Given the description of an element on the screen output the (x, y) to click on. 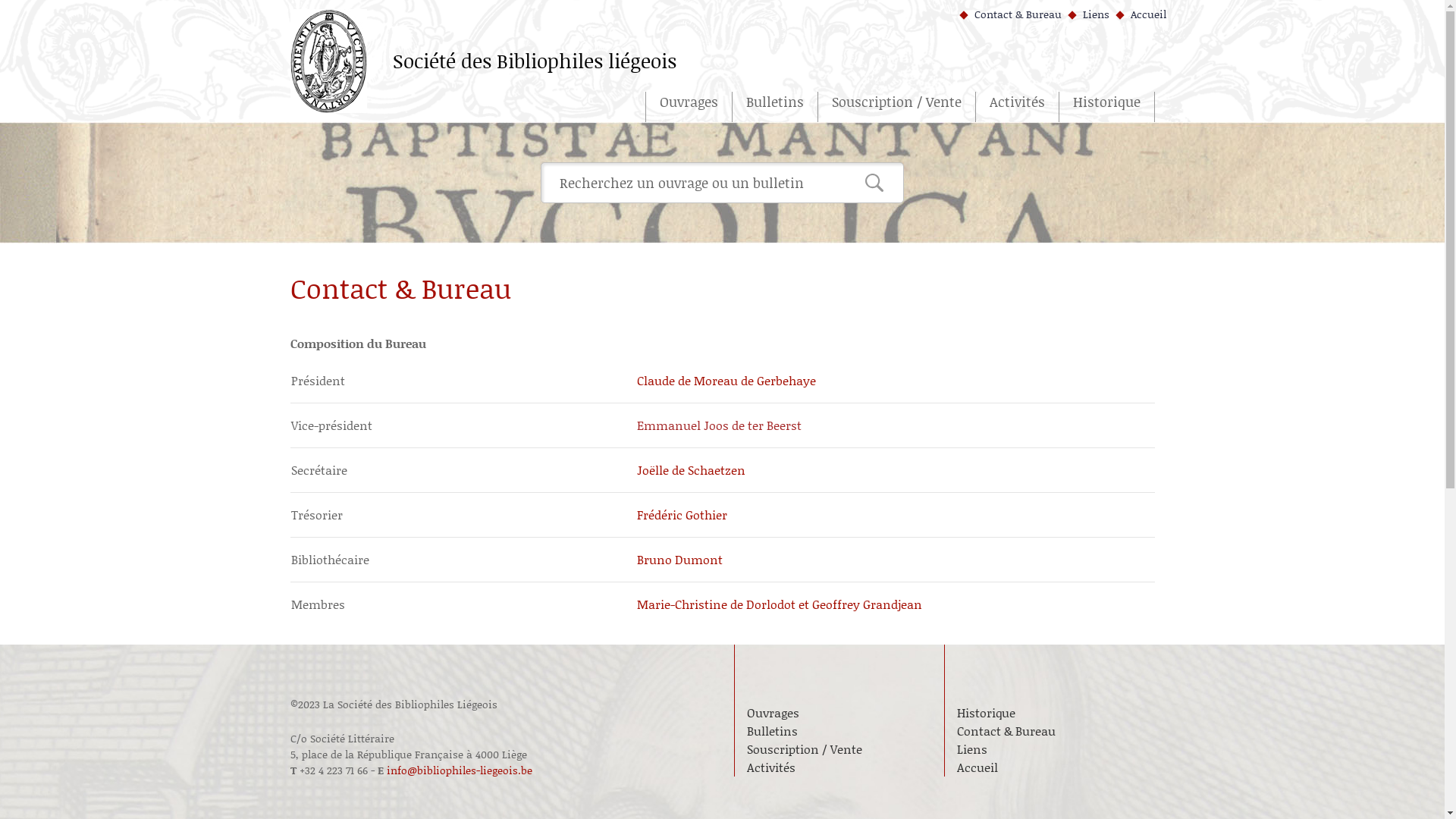
Accueil Element type: text (1049, 767)
Contact & Bureau Element type: text (1009, 13)
Bulletins Element type: text (775, 106)
Souscription / Vente Element type: text (839, 749)
Souscription / Vente Element type: text (896, 106)
Contact & Bureau Element type: text (1049, 730)
Accueil Element type: text (1139, 13)
Liens Element type: text (1088, 13)
Ouvrages Element type: text (839, 712)
Liens Element type: text (1049, 749)
info@bibliophiles-liegeois.be Element type: text (459, 770)
Historique Element type: text (1049, 712)
Bulletins Element type: text (839, 730)
Historique Element type: text (1106, 106)
Ouvrages Element type: text (687, 106)
